Given the description of an element on the screen output the (x, y) to click on. 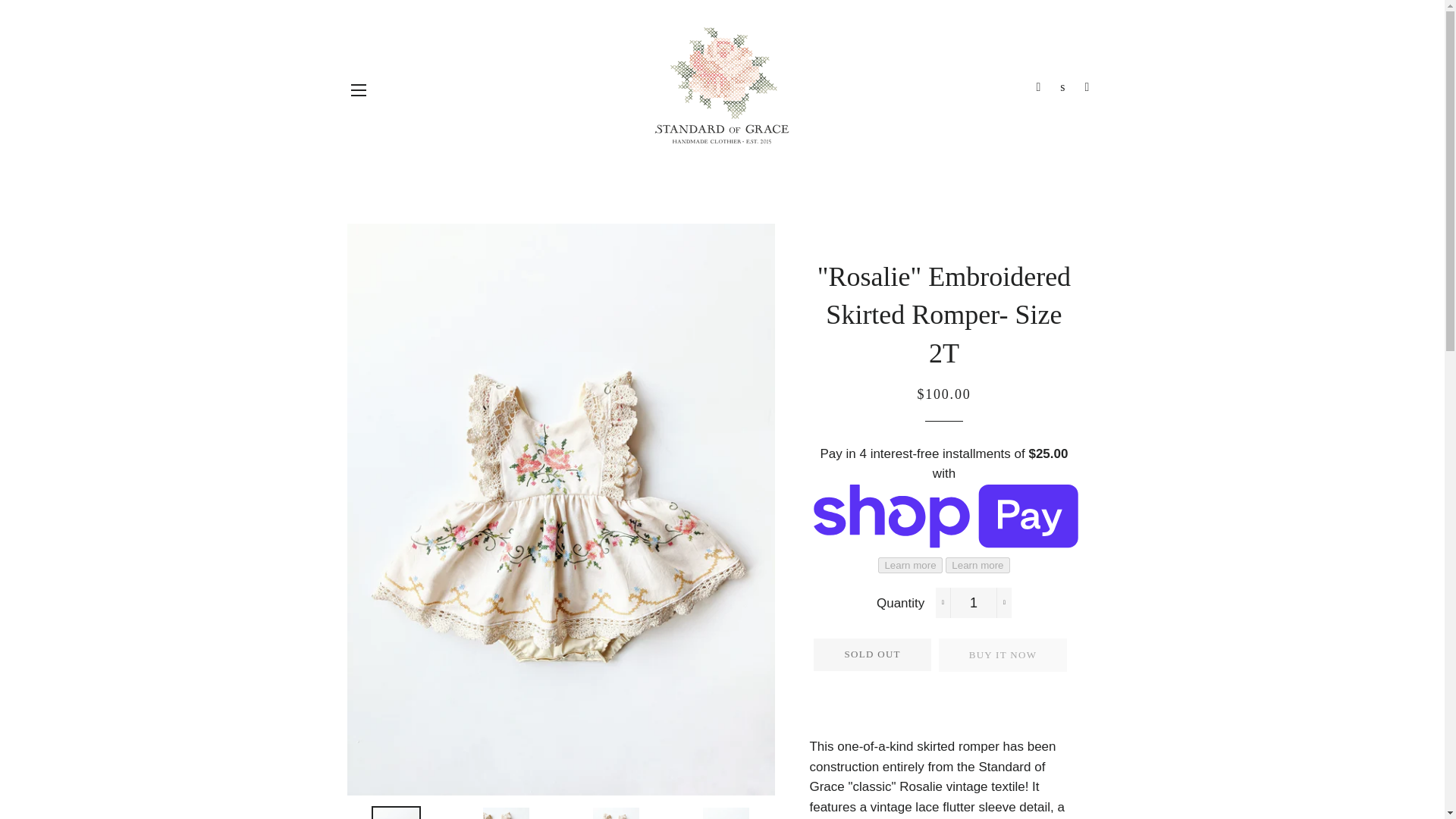
1 (973, 603)
BUY IT NOW (1003, 654)
SOLD OUT (872, 654)
SITE NAVIGATION (358, 89)
